Given the description of an element on the screen output the (x, y) to click on. 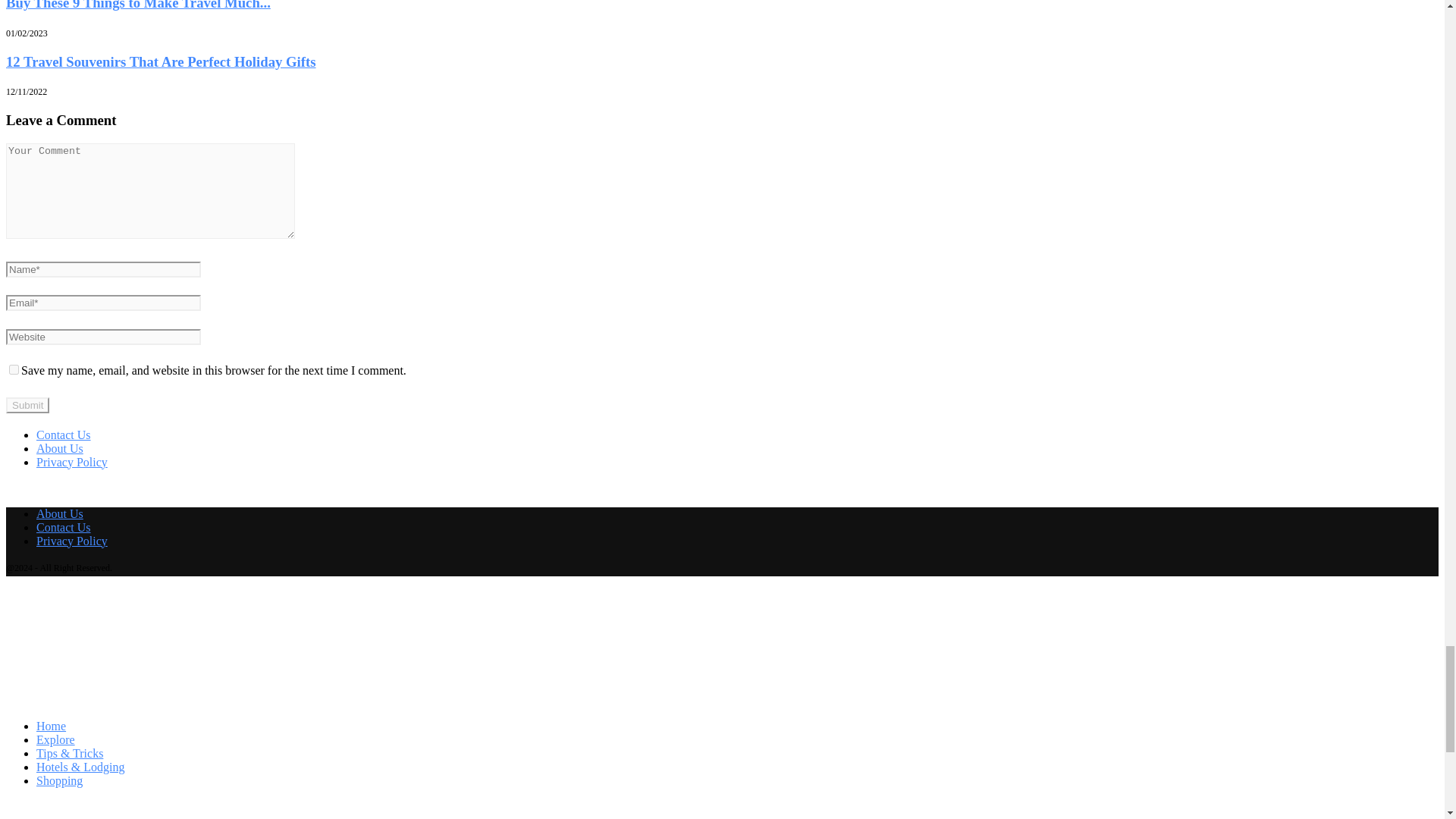
yes (13, 369)
Submit (27, 405)
